Given the description of an element on the screen output the (x, y) to click on. 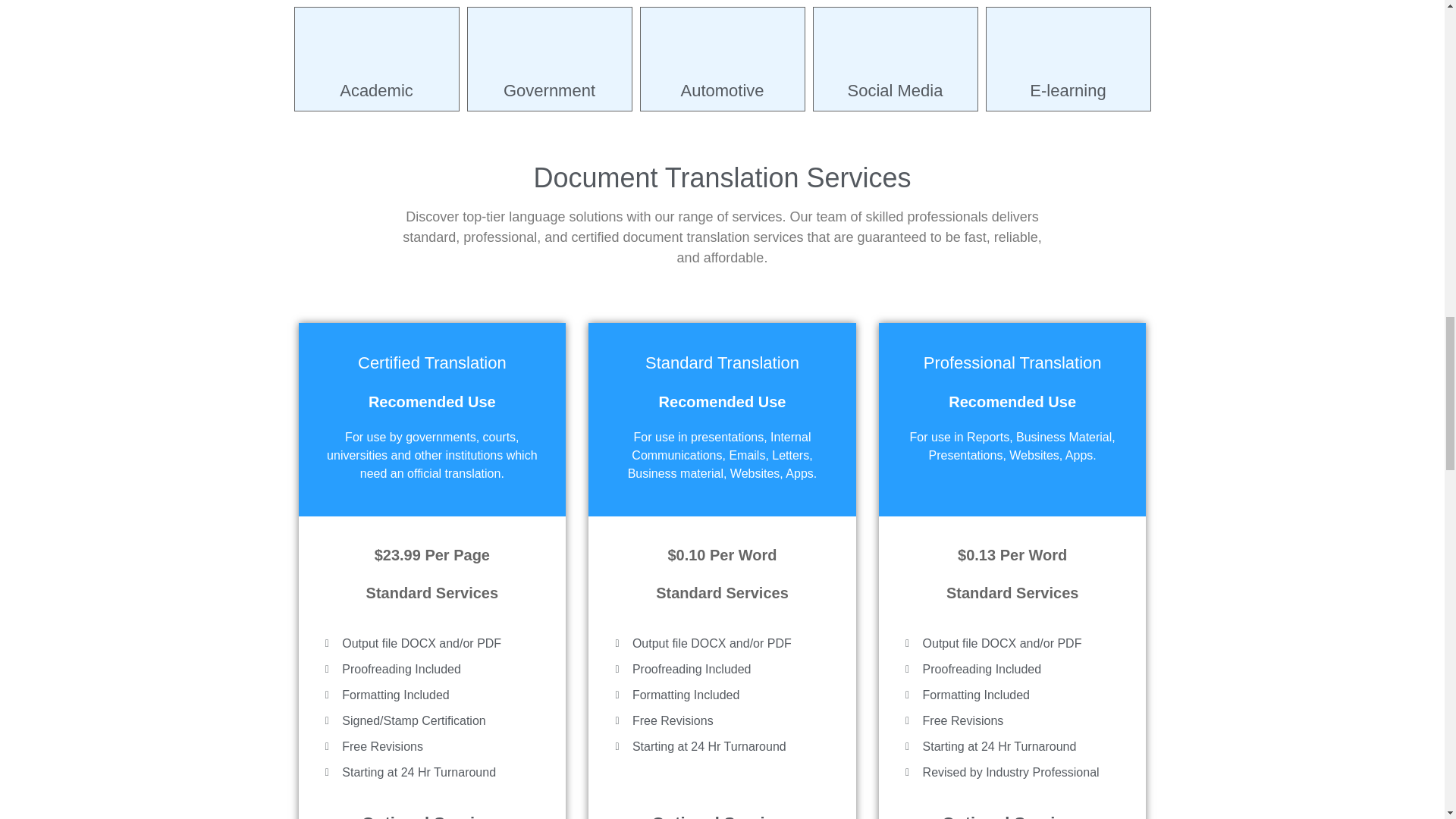
Academic Translation Services (376, 59)
Engineering Document Translation Services (1067, 1)
Cryptocurrency and Blockchain Translation Services (376, 1)
Apps Translation Services (721, 1)
Technical Translation Services (548, 1)
Marketing Content Translation Services (894, 1)
